Given the description of an element on the screen output the (x, y) to click on. 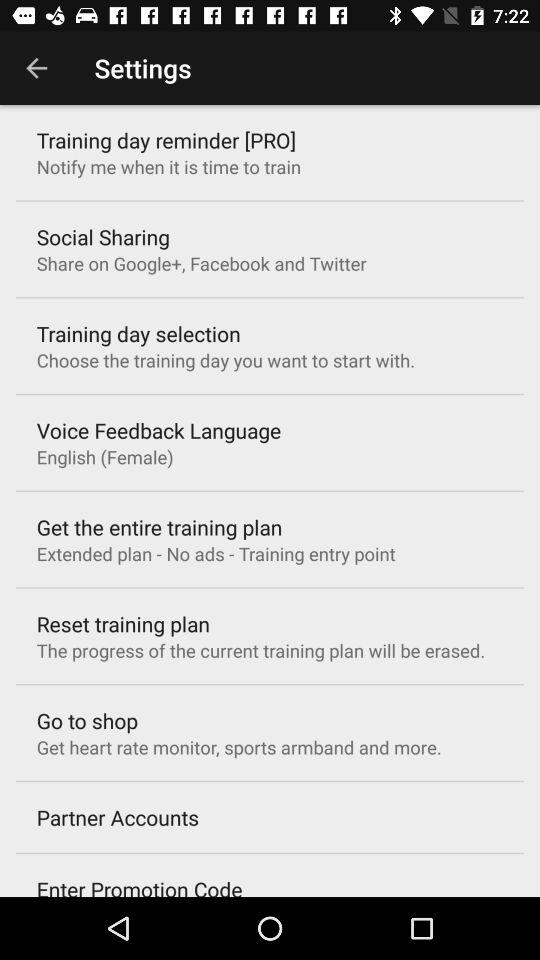
turn off the progress of item (260, 650)
